Given the description of an element on the screen output the (x, y) to click on. 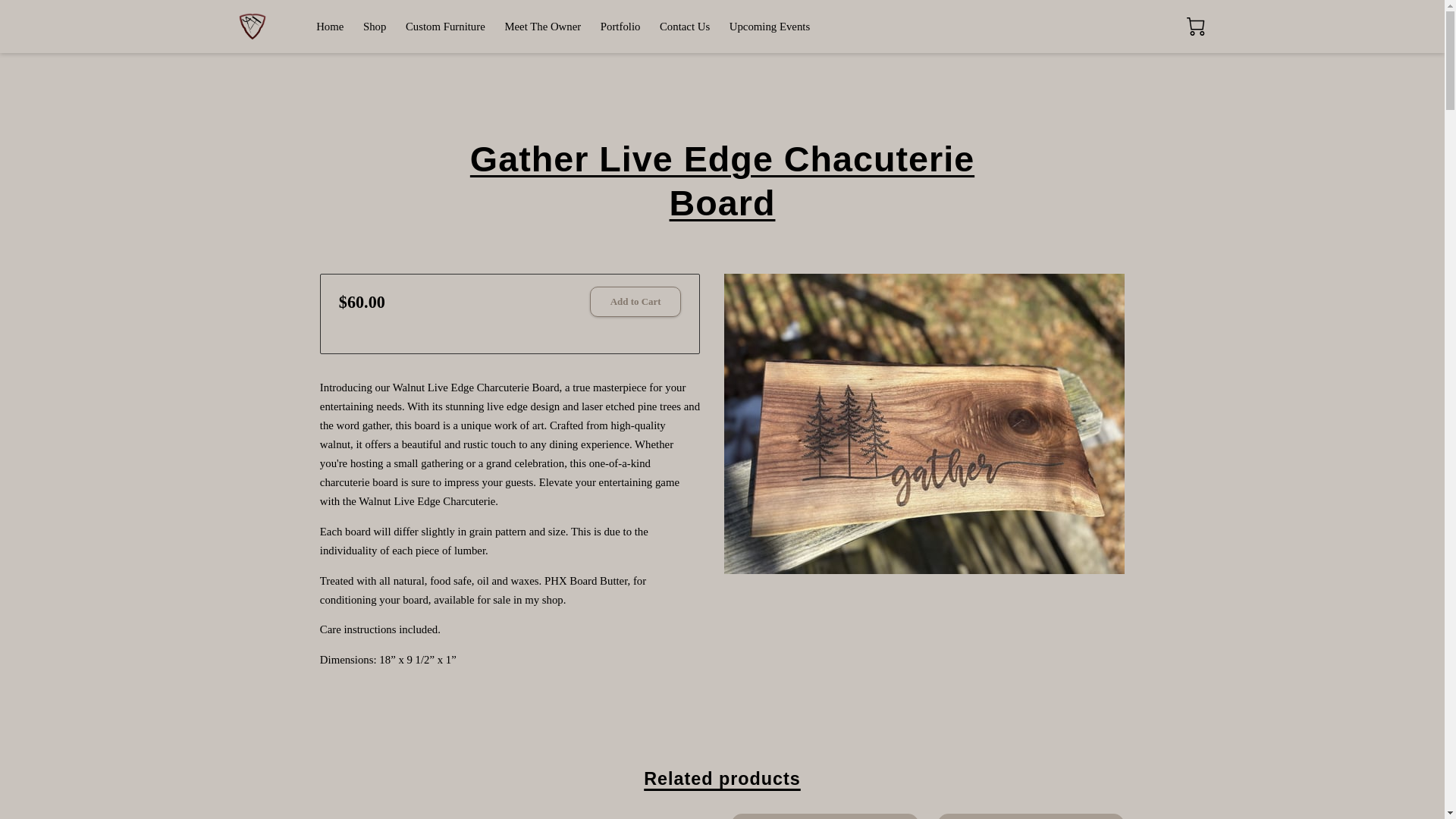
0 (1195, 26)
Contact Us (684, 26)
Add to Cart (635, 301)
Custom Furniture (445, 26)
Upcoming Events (769, 26)
Meet The Owner (541, 26)
